Given the description of an element on the screen output the (x, y) to click on. 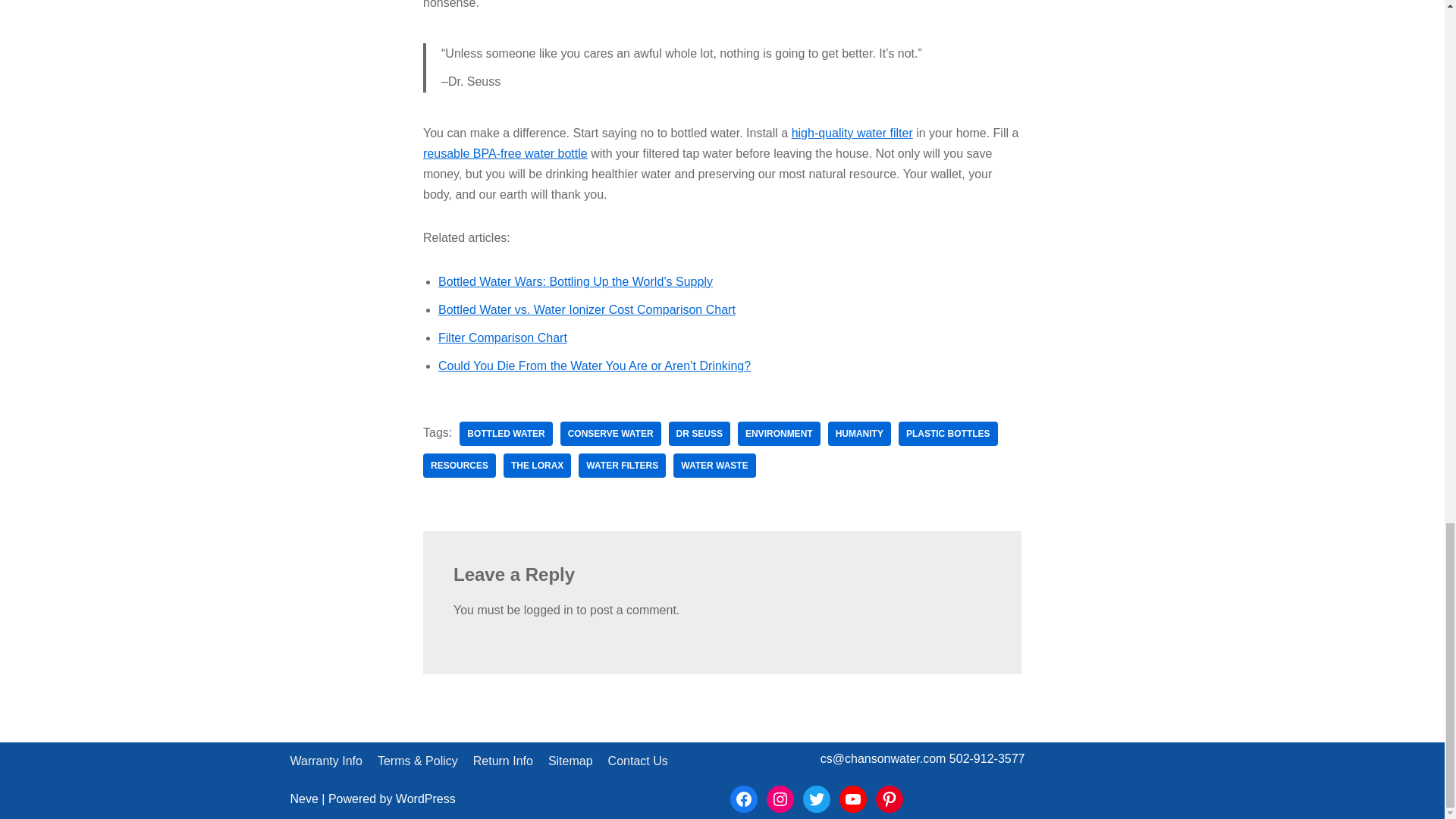
conserve water (610, 433)
humanity (859, 433)
dr seuss (699, 433)
resources (459, 465)
plastic bottles (947, 433)
bottled water (505, 433)
environment (779, 433)
the lorax (536, 465)
water filters (621, 465)
water waste (713, 465)
